Given the description of an element on the screen output the (x, y) to click on. 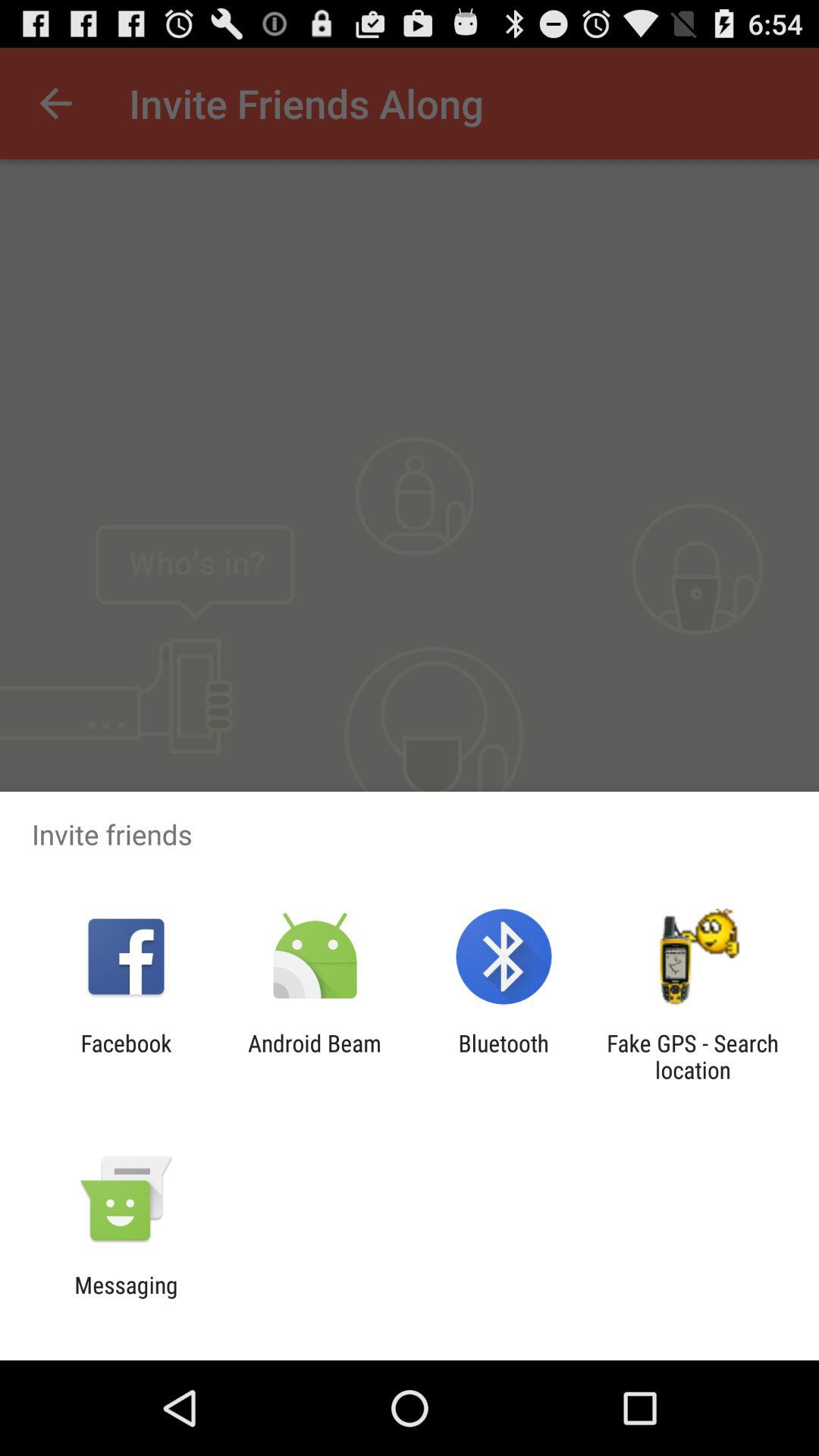
open icon next to the facebook item (314, 1056)
